Given the description of an element on the screen output the (x, y) to click on. 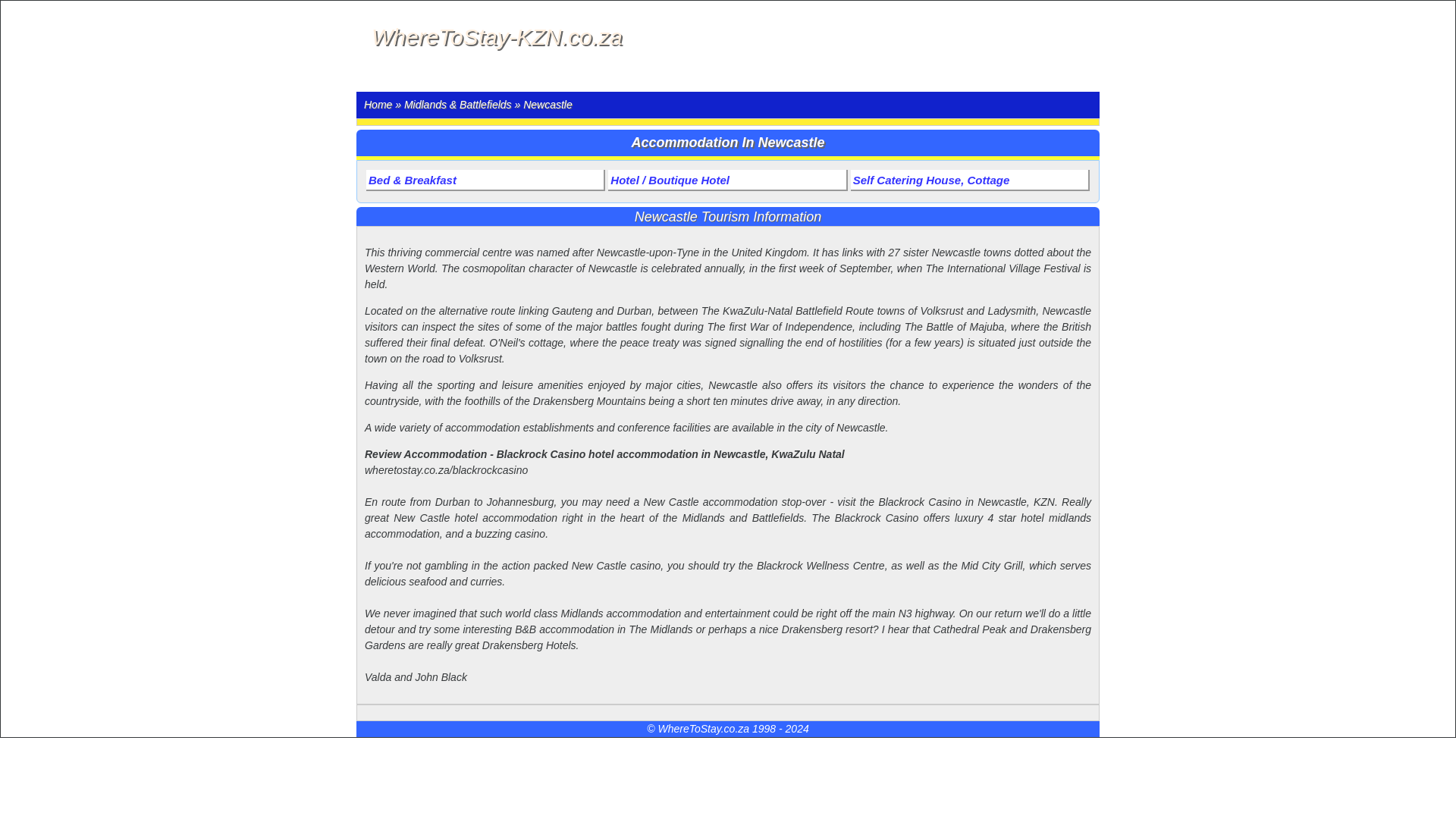
Home (377, 104)
Self Catering House, Cottage (969, 179)
